Given the description of an element on the screen output the (x, y) to click on. 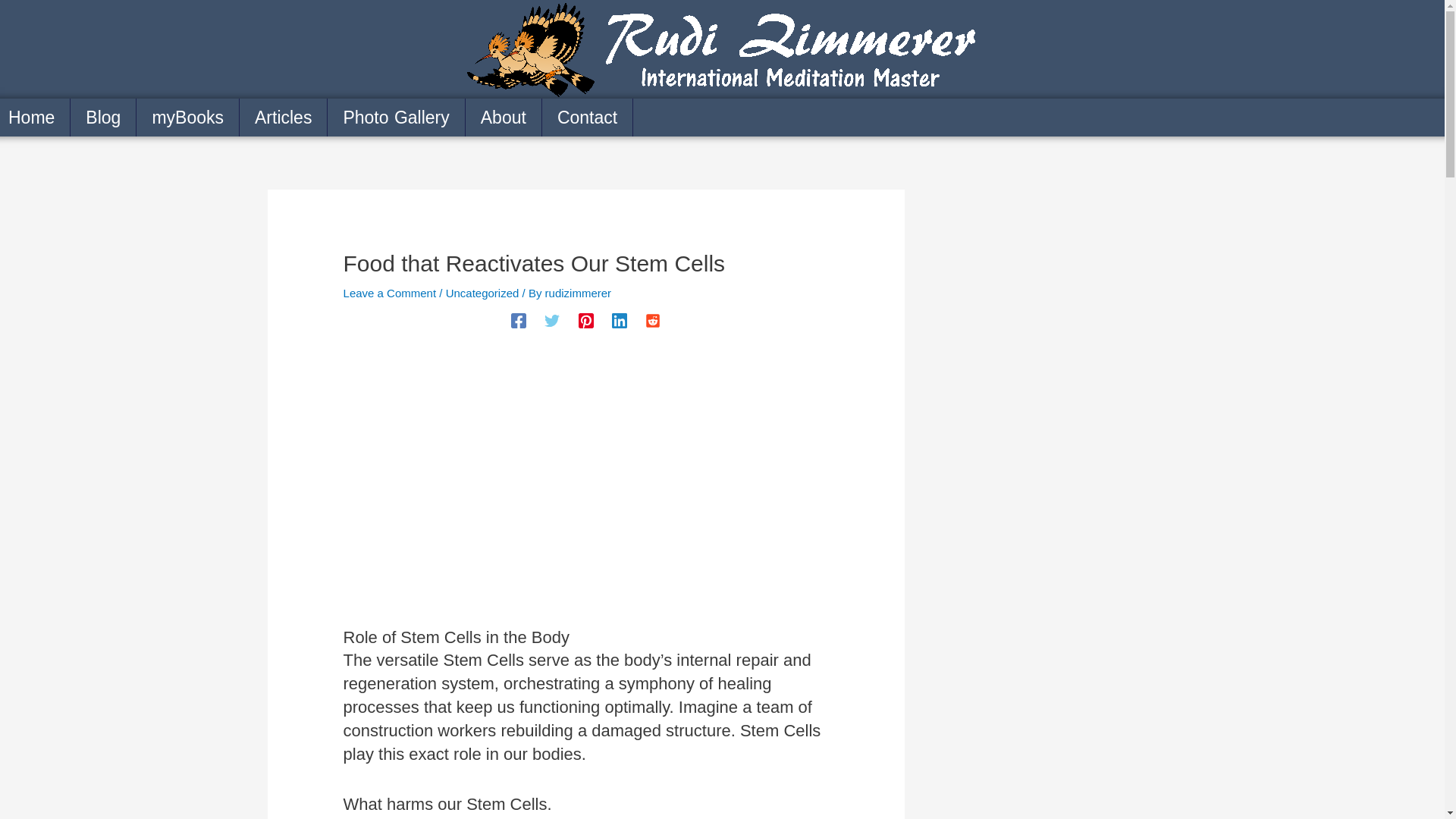
Photo Gallery (395, 117)
Blog (102, 117)
myBooks (188, 117)
Contact (587, 117)
Uncategorized (482, 292)
Home (34, 117)
About (503, 117)
Articles (283, 117)
rudizimmerer (577, 292)
View all posts by rudizimmerer (577, 292)
Leave a Comment (389, 292)
Food that Reactivates Our Stem Cells (585, 489)
